Given the description of an element on the screen output the (x, y) to click on. 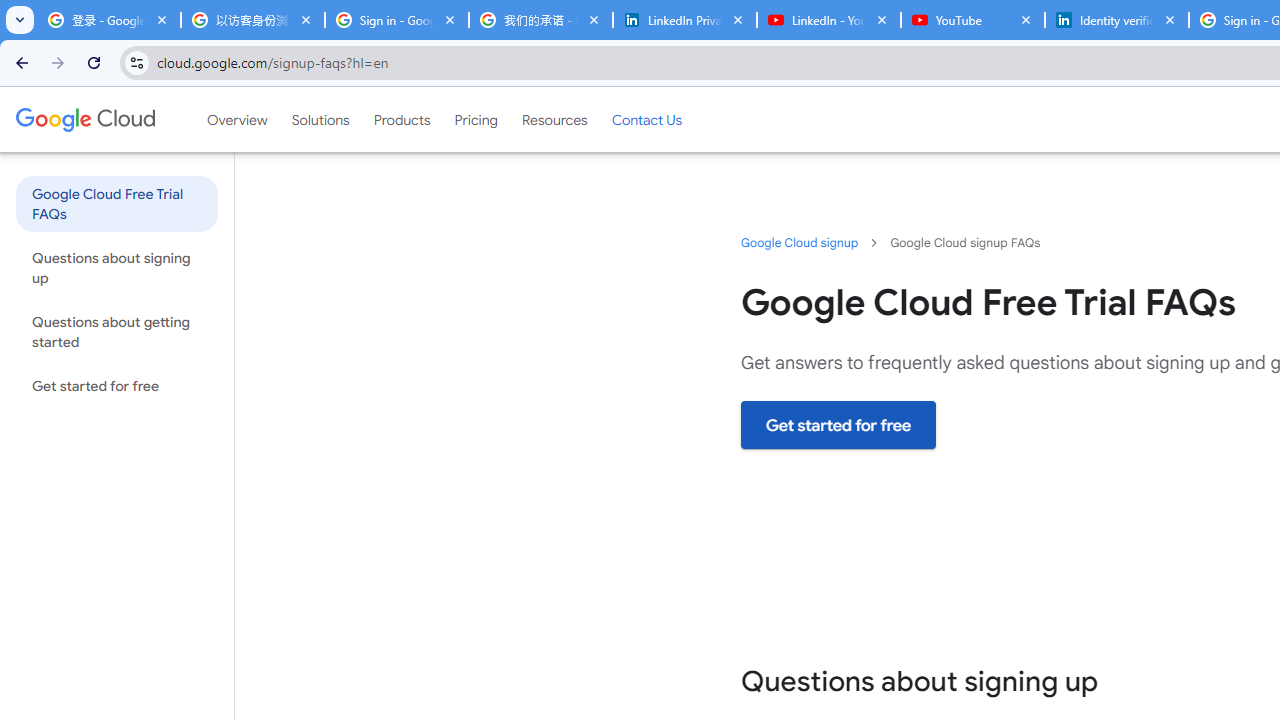
Questions about getting started (116, 331)
YouTube (972, 20)
Google Cloud signup (799, 241)
Contact Us (646, 119)
Google Cloud (84, 119)
LinkedIn - YouTube (828, 20)
